Given the description of an element on the screen output the (x, y) to click on. 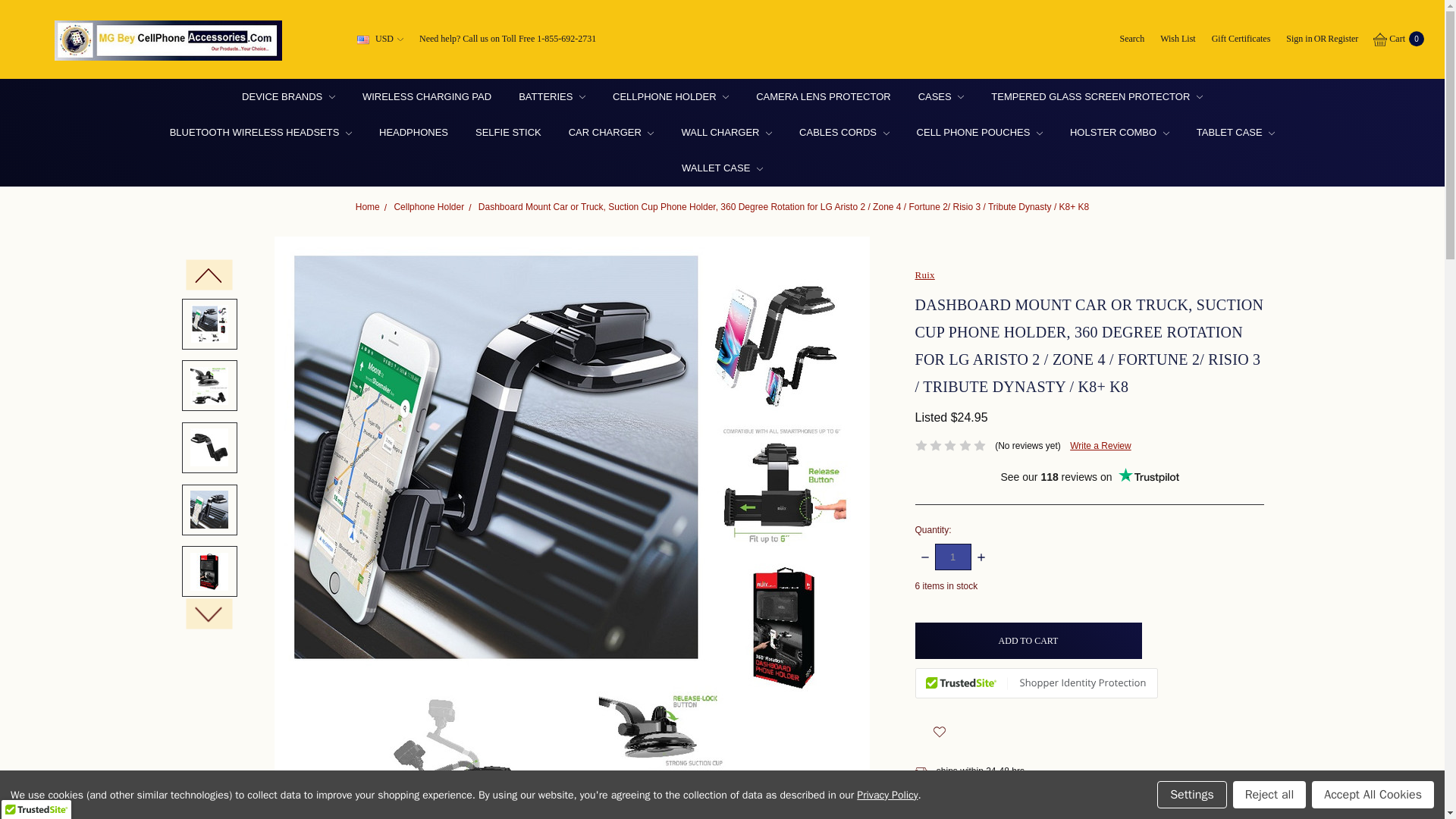
Register (1342, 39)
Wish List (1177, 39)
DEVICE BRANDS (288, 96)
Sign in (1299, 39)
Need help? Call us on Toll Free 1-855-692-2731 (507, 39)
USD (380, 39)
1 (952, 556)
MG Bey Cell Phone Accessories (168, 40)
Add to Cart (1028, 640)
Customer reviews powered by Trustpilot (1089, 476)
Search (1131, 39)
Cart 0 (1398, 39)
Gift Certificates (1241, 39)
